Given the description of an element on the screen output the (x, y) to click on. 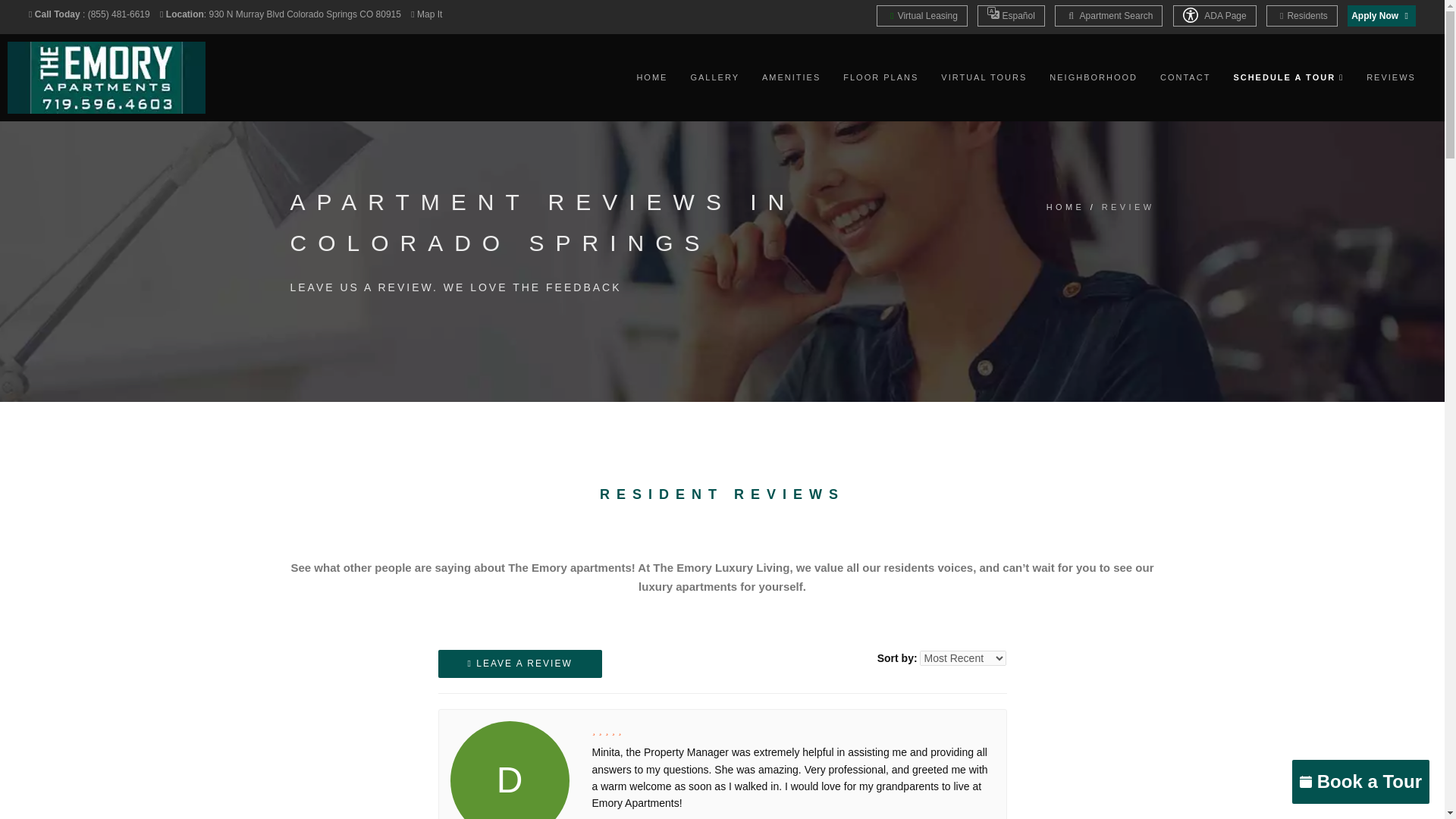
VIRTUAL TOURS (983, 77)
FLOOR PLANS (880, 77)
SCHEDULE A TOUR (1288, 77)
Virtual Leasing (922, 15)
Residents (1302, 15)
CONTACT (1184, 77)
Apartment Search (1107, 15)
The Emory in Colorado Springs, CO (106, 77)
AMENITIES (791, 77)
Map It (429, 14)
NEIGHBORHOOD (1093, 77)
GALLERY (714, 77)
Apply Now (1381, 15)
930 N Murray Blvd Colorado Springs CO 80915 (305, 14)
